Given the description of an element on the screen output the (x, y) to click on. 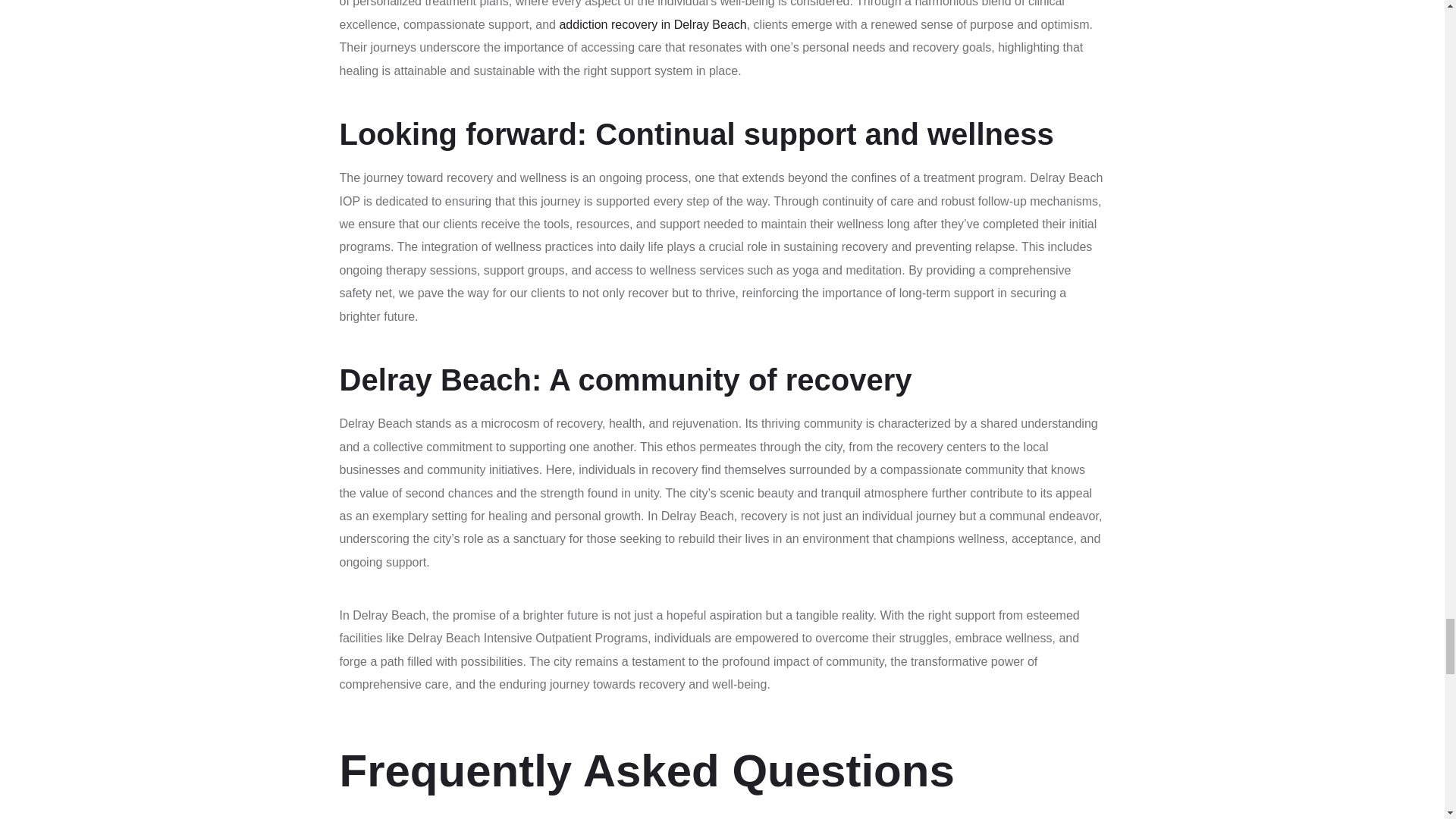
addiction recovery in Delray Beach (652, 24)
